Given the description of an element on the screen output the (x, y) to click on. 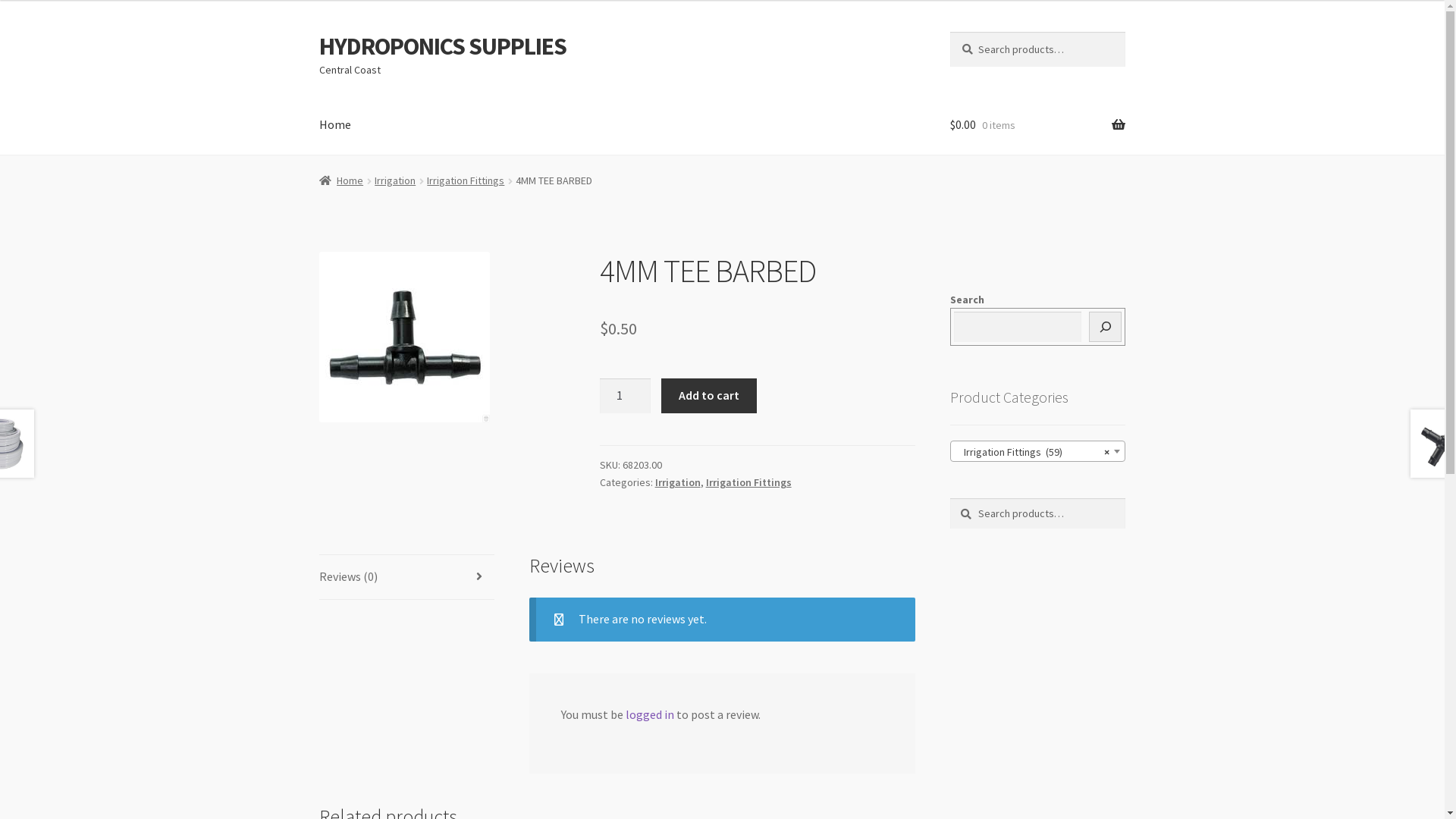
Search Element type: text (949, 31)
4mm-tee Element type: hover (404, 336)
Irrigation Fittings Element type: text (748, 482)
Reviews (0) Element type: text (406, 577)
Search Element type: text (949, 497)
HYDROPONICS SUPPLIES Element type: text (442, 46)
$0.00 0 items Element type: text (1037, 124)
Home Element type: text (341, 180)
Add to cart Element type: text (708, 395)
Skip to navigation Element type: text (318, 31)
Irrigation Element type: text (677, 482)
Qty Element type: hover (625, 395)
Home Element type: text (335, 124)
Irrigation Fittings Element type: text (465, 180)
Irrigation Element type: text (394, 180)
logged in Element type: text (649, 713)
